Given the description of an element on the screen output the (x, y) to click on. 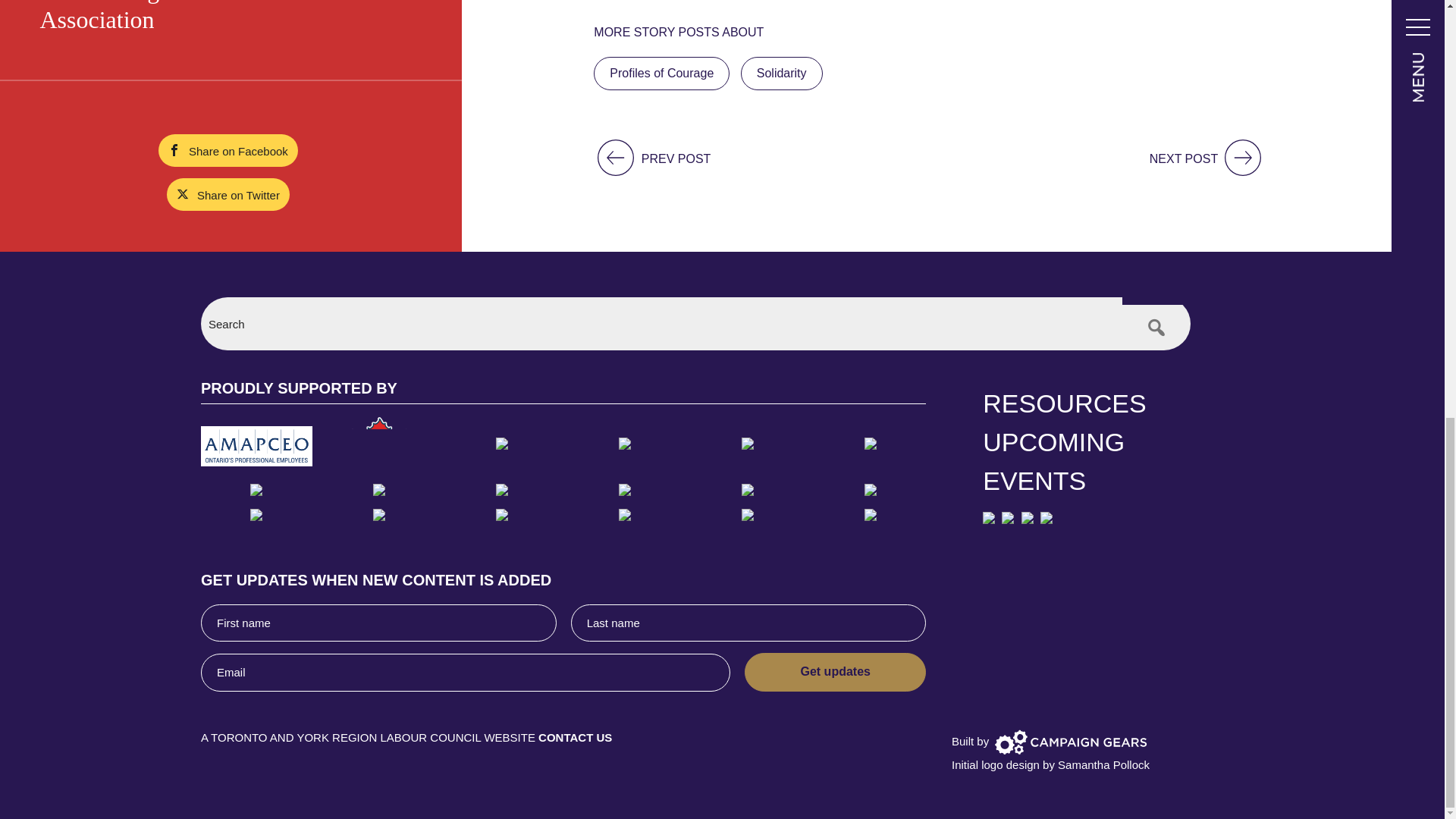
PREV POST (652, 158)
NEXT POST (1207, 158)
CONTACT US (574, 737)
Profiles of Courage (661, 73)
RESOURCES (1086, 403)
Campaign Gears (1070, 740)
Get updates (835, 671)
Solidarity (781, 73)
UPCOMING EVENTS (1086, 461)
Get updates (835, 671)
